Given the description of an element on the screen output the (x, y) to click on. 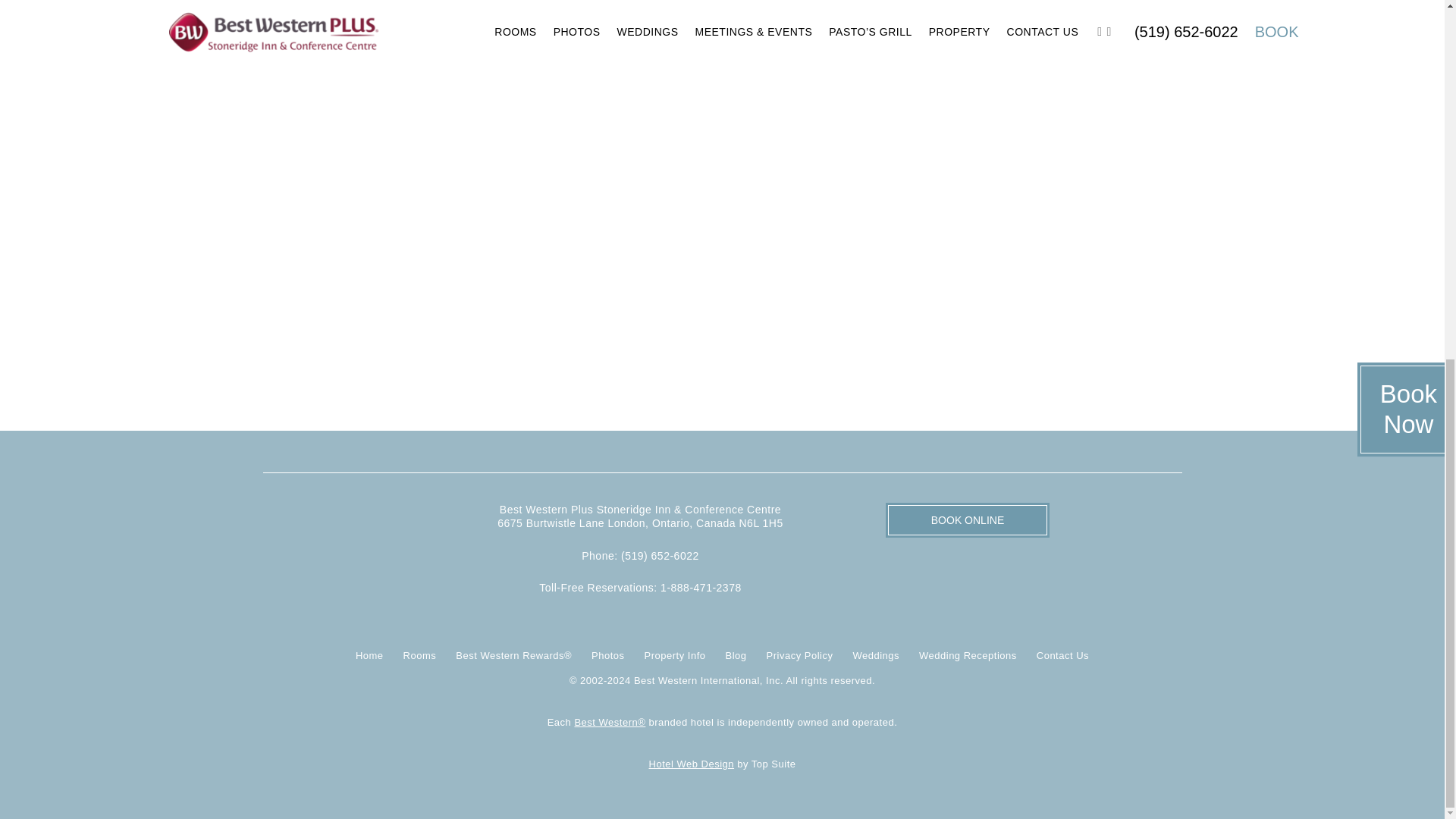
Wedding Receptions (967, 656)
Home (369, 656)
BOOK ONLINE (967, 519)
Hotel Web Design (692, 763)
Privacy Policy (799, 656)
Photos (607, 656)
Weddings (875, 656)
Rooms (419, 656)
Contact Us (1062, 656)
Property Info (675, 656)
